Given the description of an element on the screen output the (x, y) to click on. 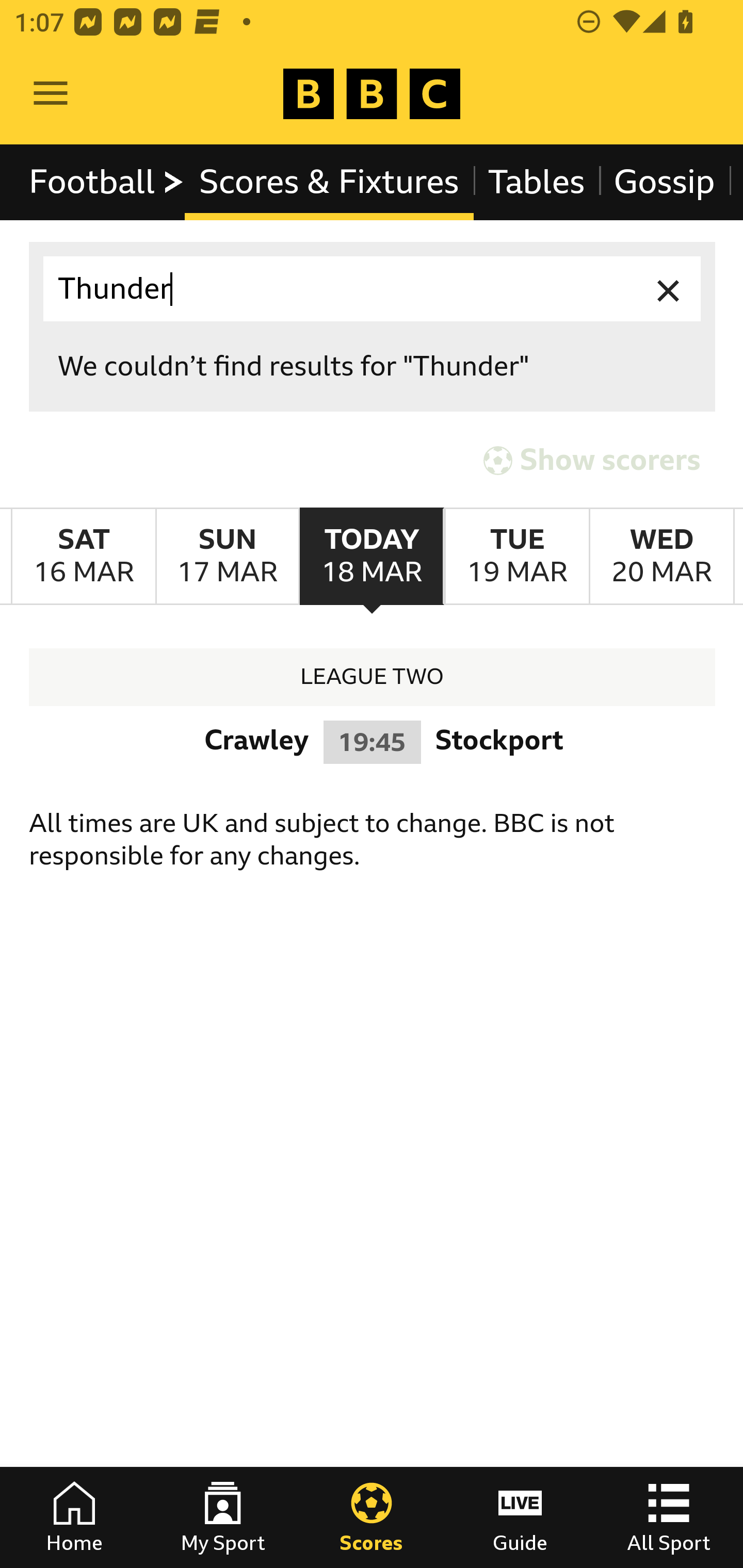
Open Menu (50, 93)
Football  (106, 181)
Scores & Fixtures (329, 181)
Tables (536, 181)
Gossip (664, 181)
Thunder (372, 289)
Clear input (669, 289)
Show scorers (591, 459)
SaturdayMarch 16th Saturday March 16th (83, 557)
SundayMarch 17th Sunday March 17th (227, 557)
TuesdayMarch 19th Tuesday March 19th (516, 557)
WednesdayMarch 20th Wednesday March 20th (661, 557)
Home (74, 1517)
My Sport (222, 1517)
Guide (519, 1517)
All Sport (668, 1517)
